Given the description of an element on the screen output the (x, y) to click on. 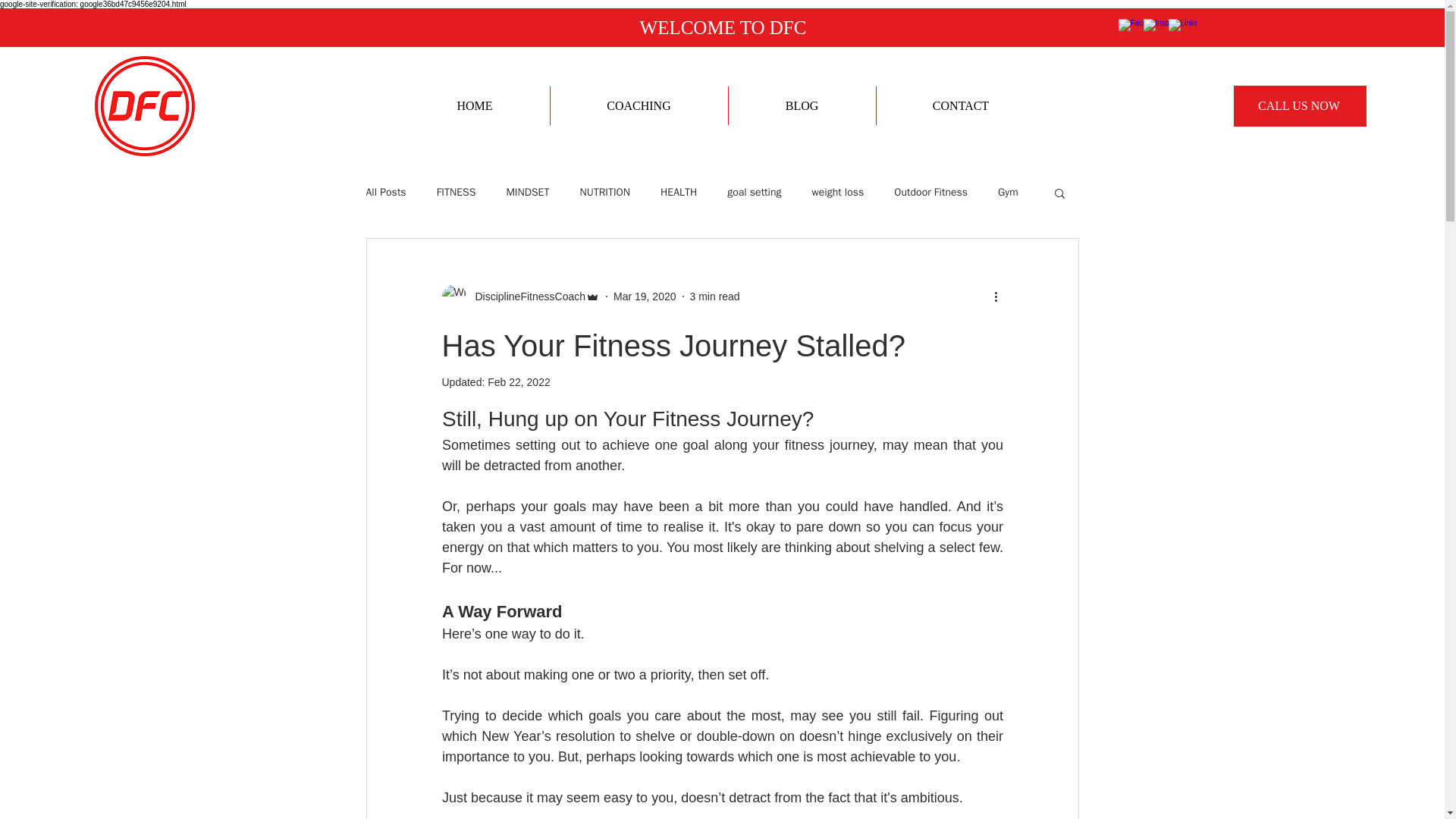
DisciplineFitnessCoach (525, 295)
HOME (475, 105)
goal setting (753, 192)
Mar 19, 2020 (644, 295)
CALL US NOW (1300, 106)
weight loss (836, 192)
Gym (1007, 192)
FITNESS (456, 192)
NUTRITION (604, 192)
Feb 22, 2022 (518, 381)
